Given the description of an element on the screen output the (x, y) to click on. 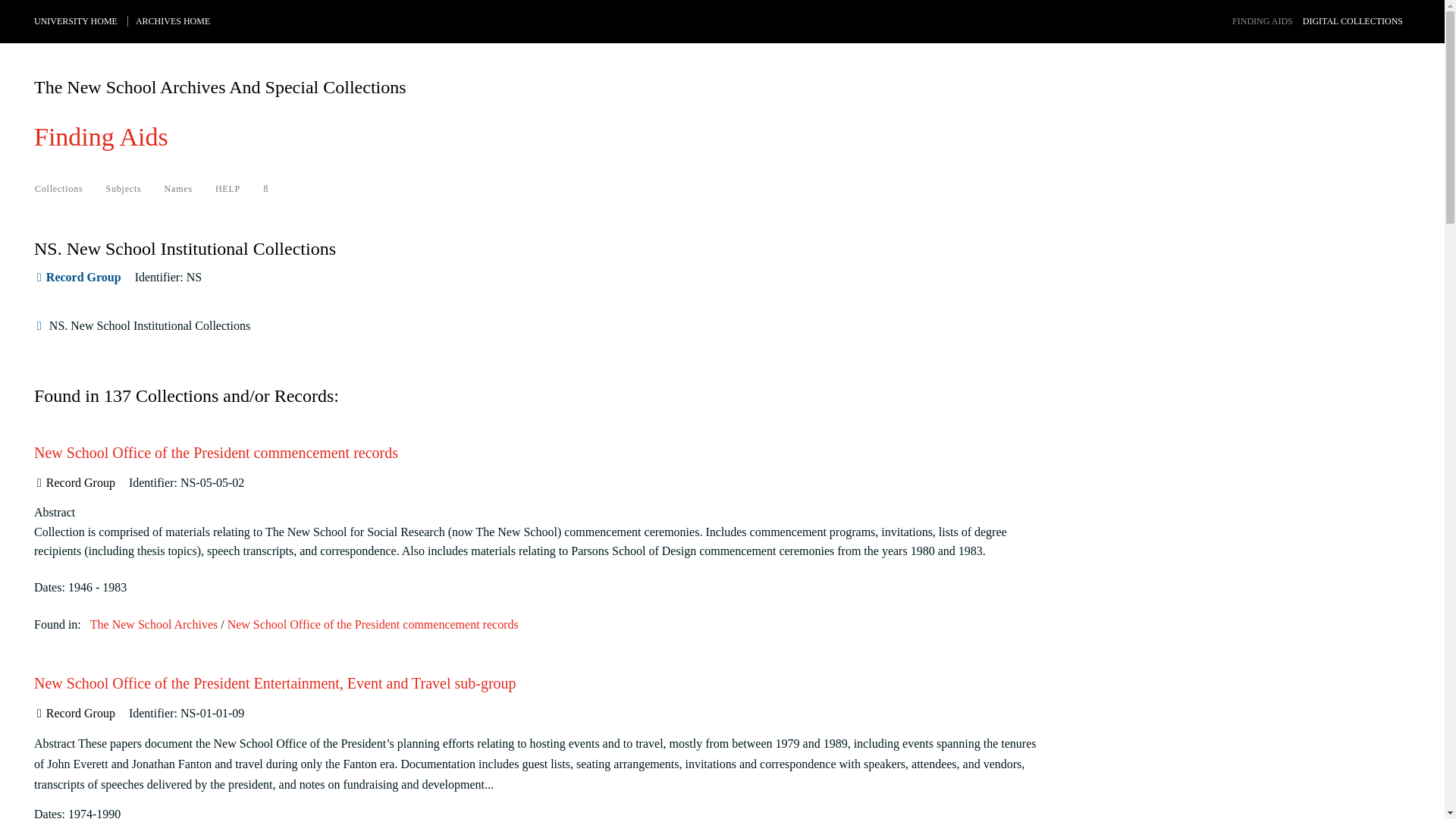
The New School Archives (153, 624)
Collections (58, 188)
New School Office of the President commencement records (215, 452)
Return to Collection Guides homepage (100, 136)
DIGITAL COLLECTIONS (1353, 20)
translation missing: en.dates (47, 586)
UNIVERSITY HOME (75, 20)
Names (177, 188)
New School Office of the President commencement records (372, 624)
ARCHIVES HOME (172, 20)
